Given the description of an element on the screen output the (x, y) to click on. 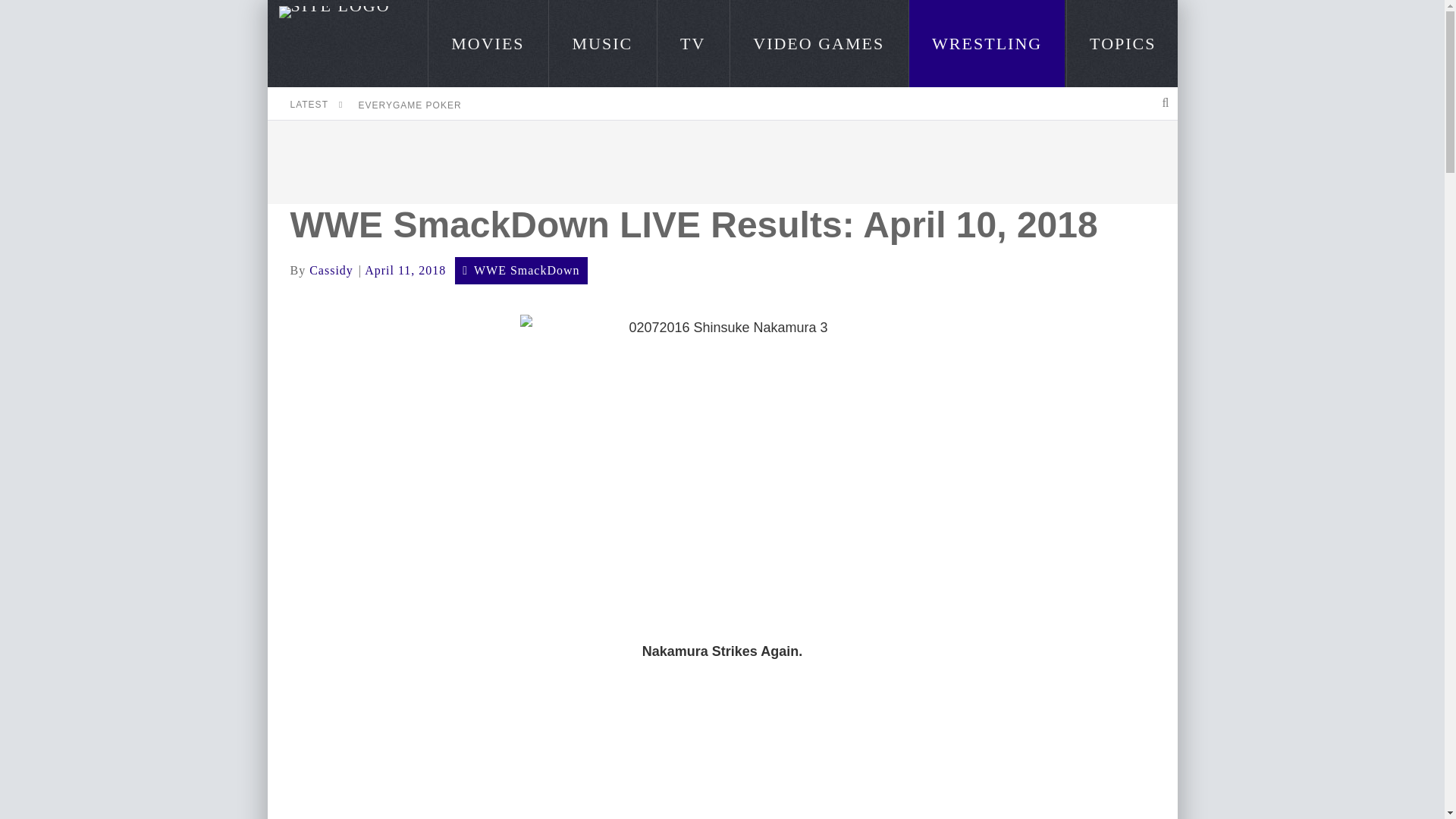
Look Everygame Poker (409, 104)
View all posts in WWE SmackDown (526, 269)
MOVIES (487, 43)
MUSIC (601, 43)
02072016 Shinsuke Nakamura 3 (721, 466)
